Given the description of an element on the screen output the (x, y) to click on. 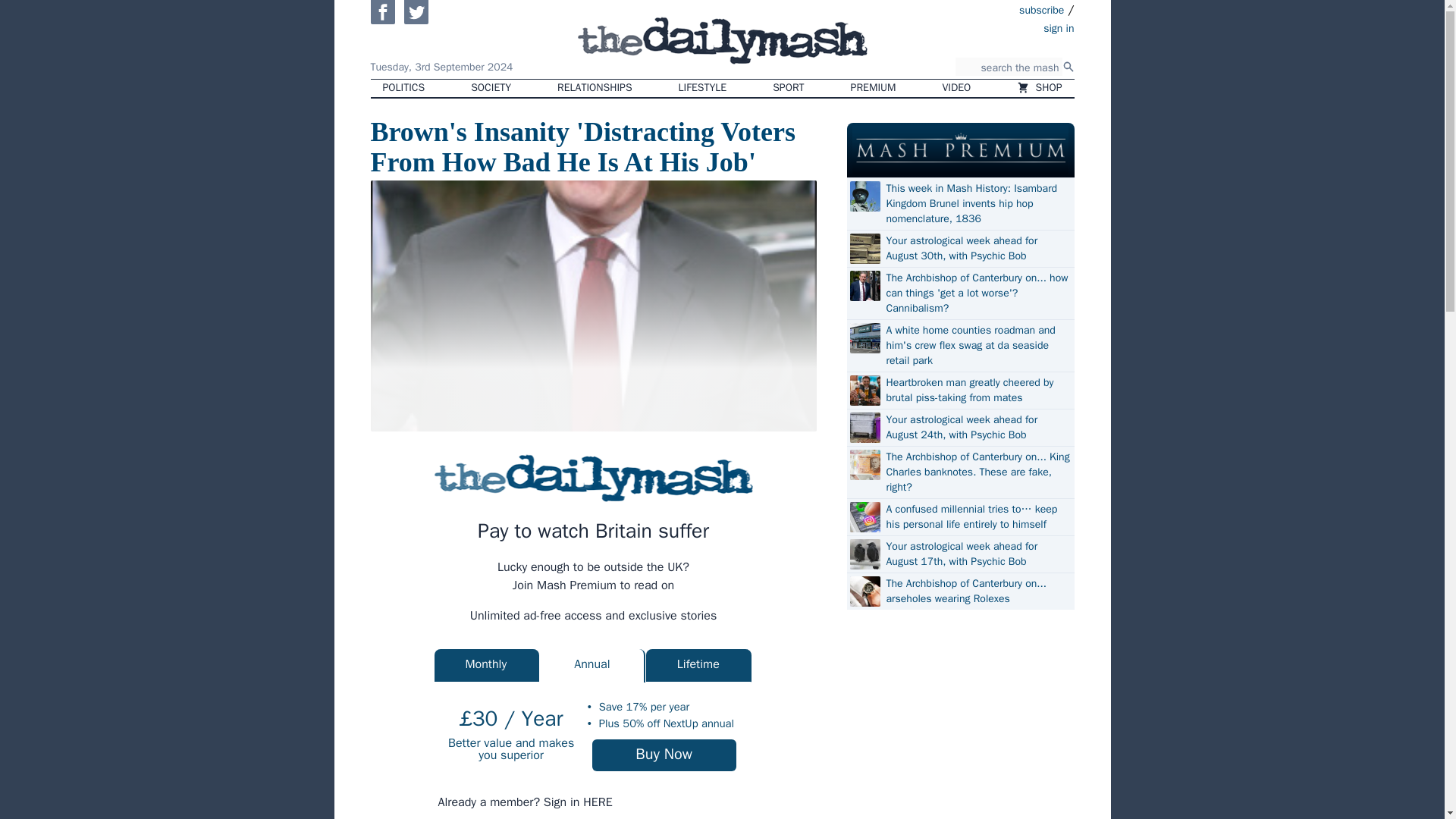
LIFESTYLE (702, 88)
SPORT (787, 88)
PREMIUM (873, 88)
POLITICS (402, 88)
VIDEO (957, 88)
SOCIETY (490, 88)
subscribe (1041, 9)
